Given the description of an element on the screen output the (x, y) to click on. 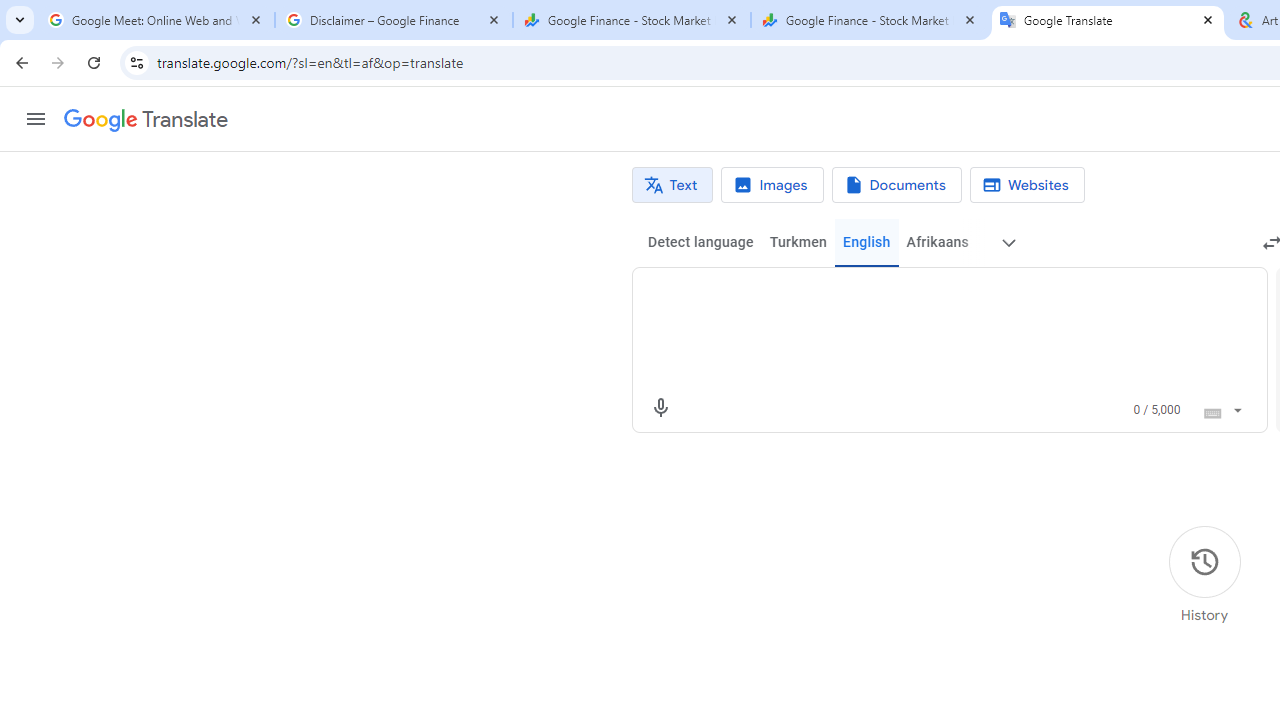
Source text (930, 295)
Afrikaans (937, 242)
0 of 5,000 characters used (1156, 410)
English (866, 242)
Detect language (699, 242)
Turkmen (797, 242)
Text translation (672, 185)
